Given the description of an element on the screen output the (x, y) to click on. 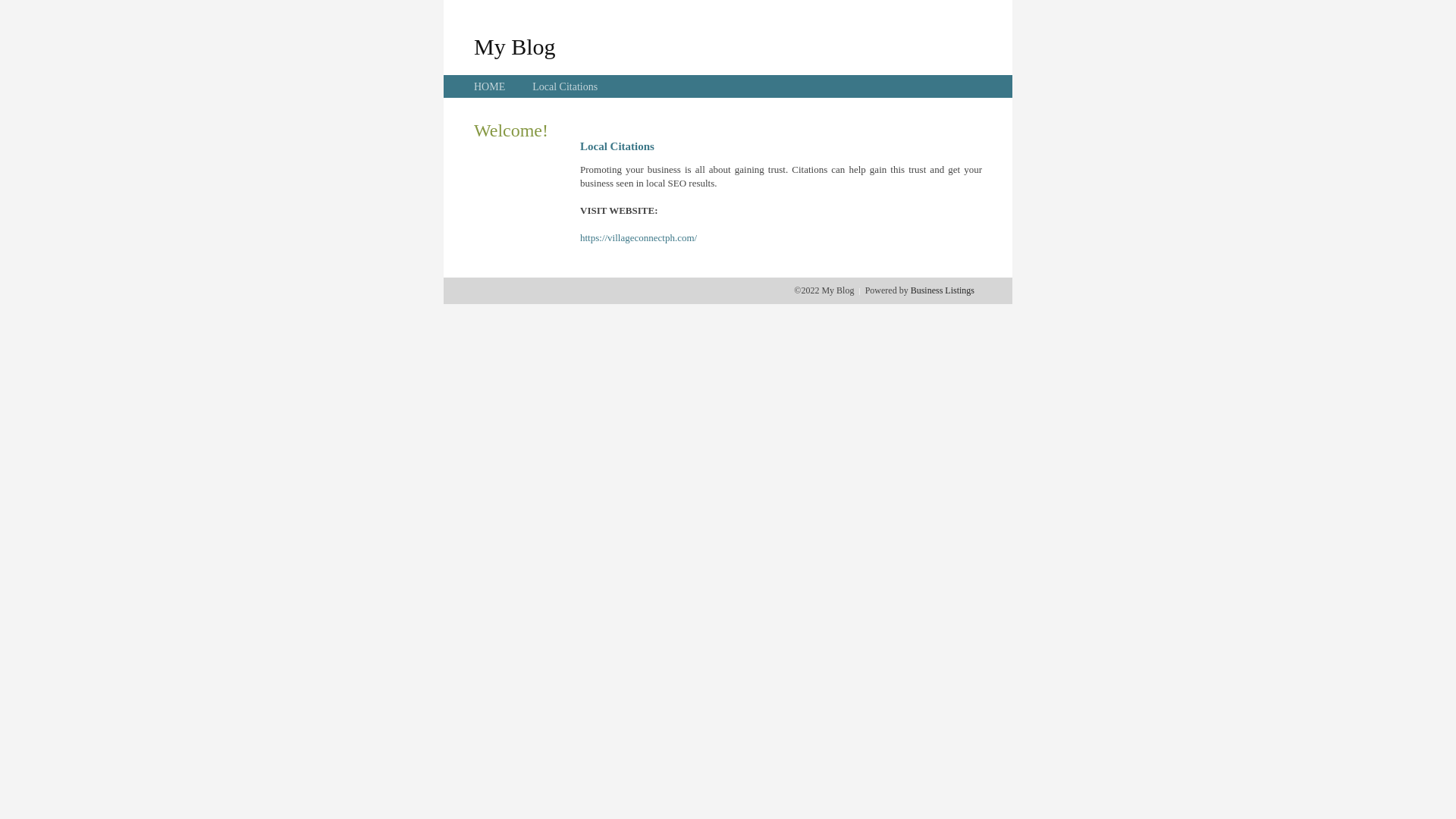
Local Citations Element type: text (564, 86)
My Blog Element type: text (514, 46)
HOME Element type: text (489, 86)
https://villageconnectph.com/ Element type: text (638, 237)
Business Listings Element type: text (942, 290)
